Given the description of an element on the screen output the (x, y) to click on. 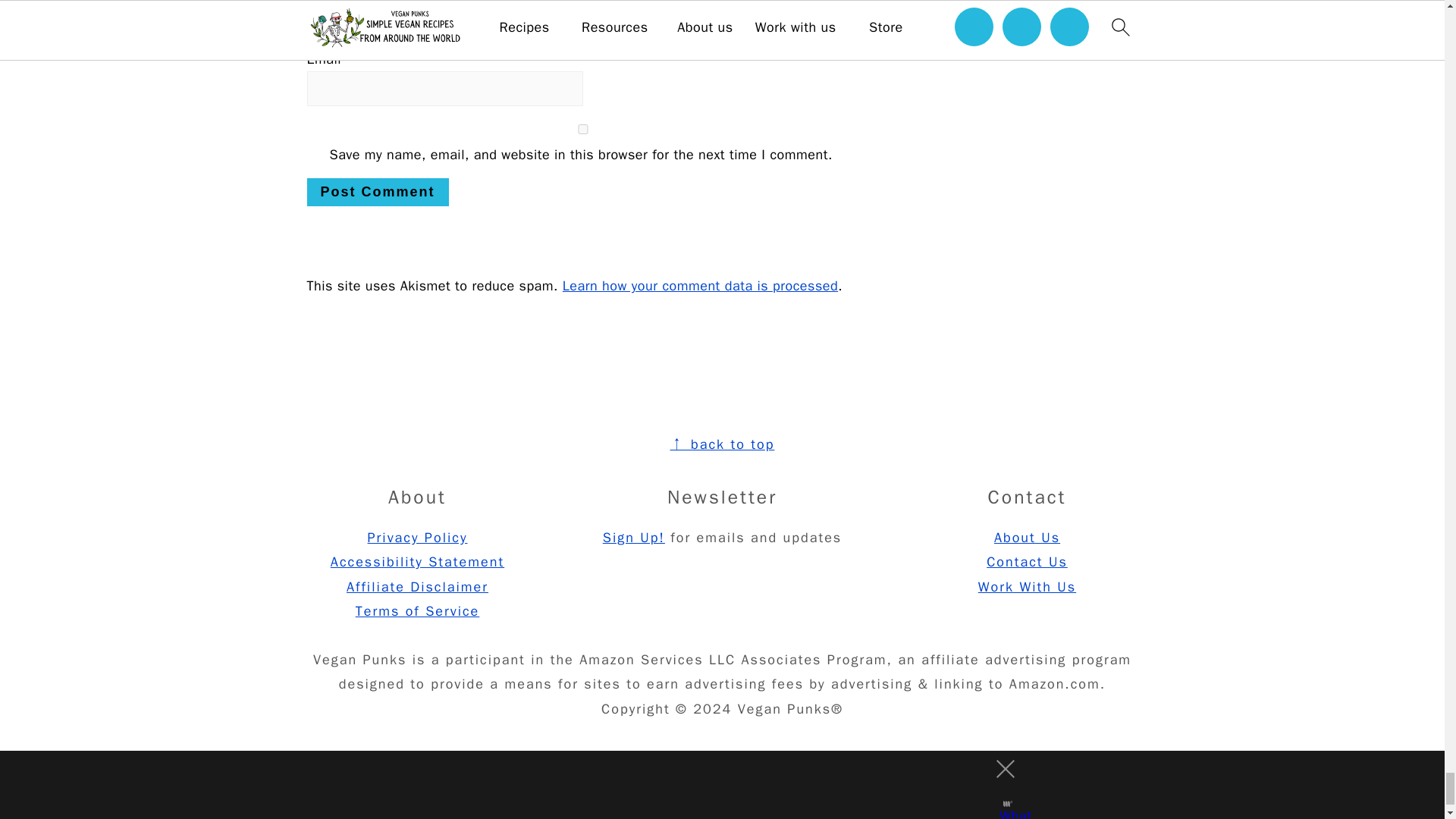
yes (582, 129)
Post Comment (376, 192)
